Given the description of an element on the screen output the (x, y) to click on. 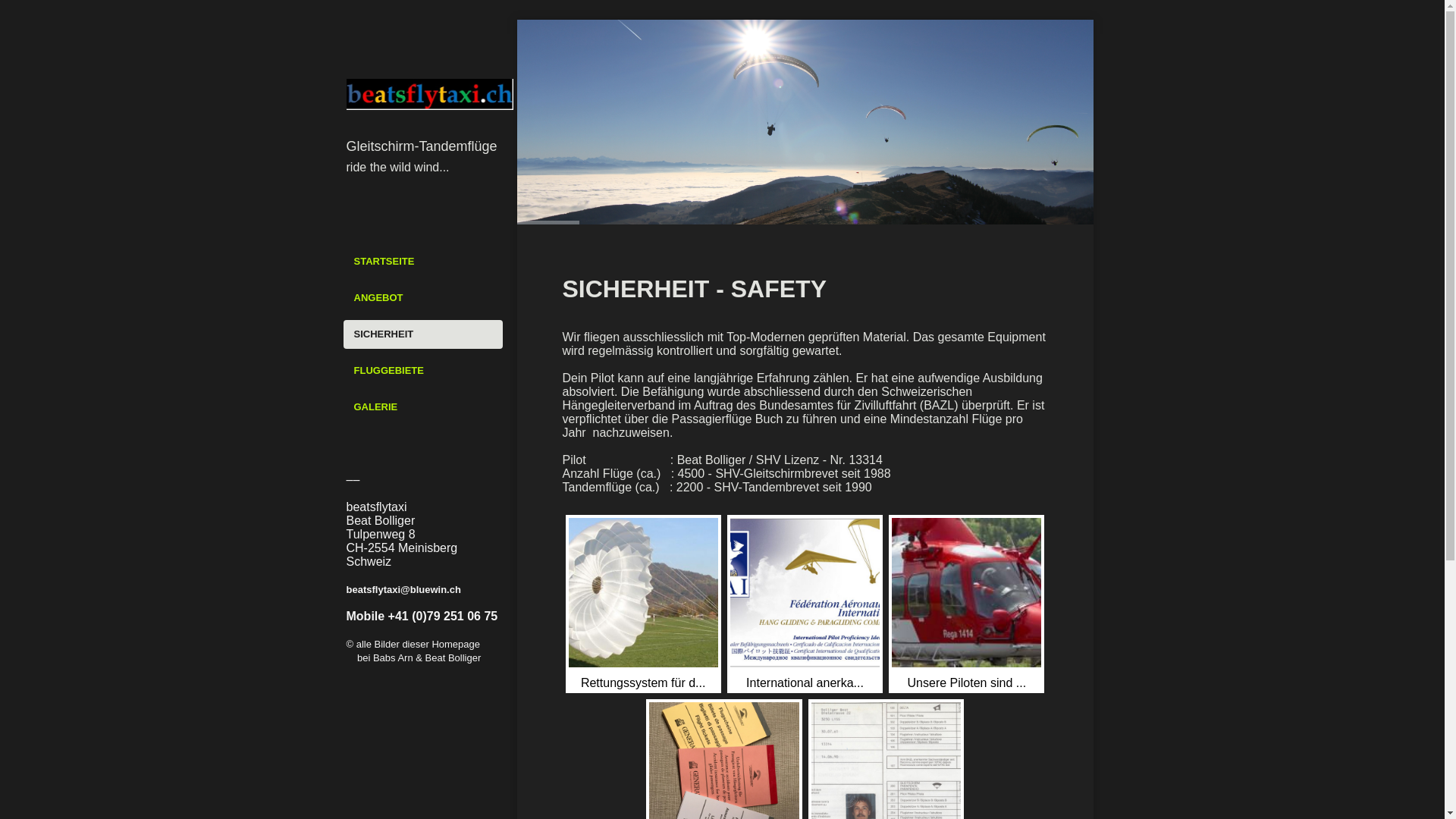
Unsere Piloten sind ... Element type: text (966, 603)
ANGEBOT Element type: text (422, 297)
International anerka... Element type: text (804, 603)
STARTSEITE Element type: text (422, 261)
FLUGGEBIETE Element type: text (422, 370)
GALERIE Element type: text (422, 406)
SICHERHEIT Element type: text (422, 334)
